Given the description of an element on the screen output the (x, y) to click on. 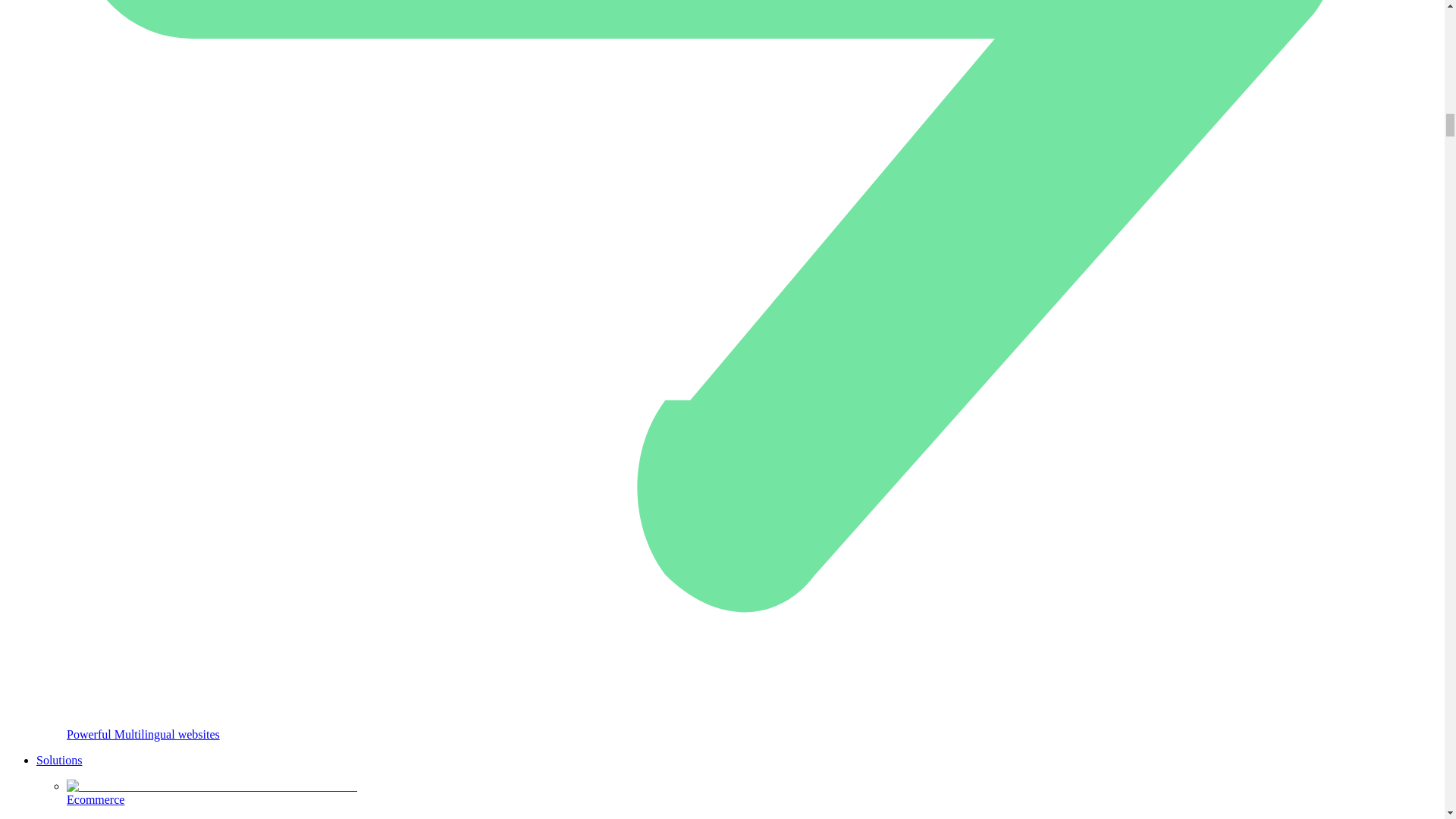
Solutions (58, 759)
